Given the description of an element on the screen output the (x, y) to click on. 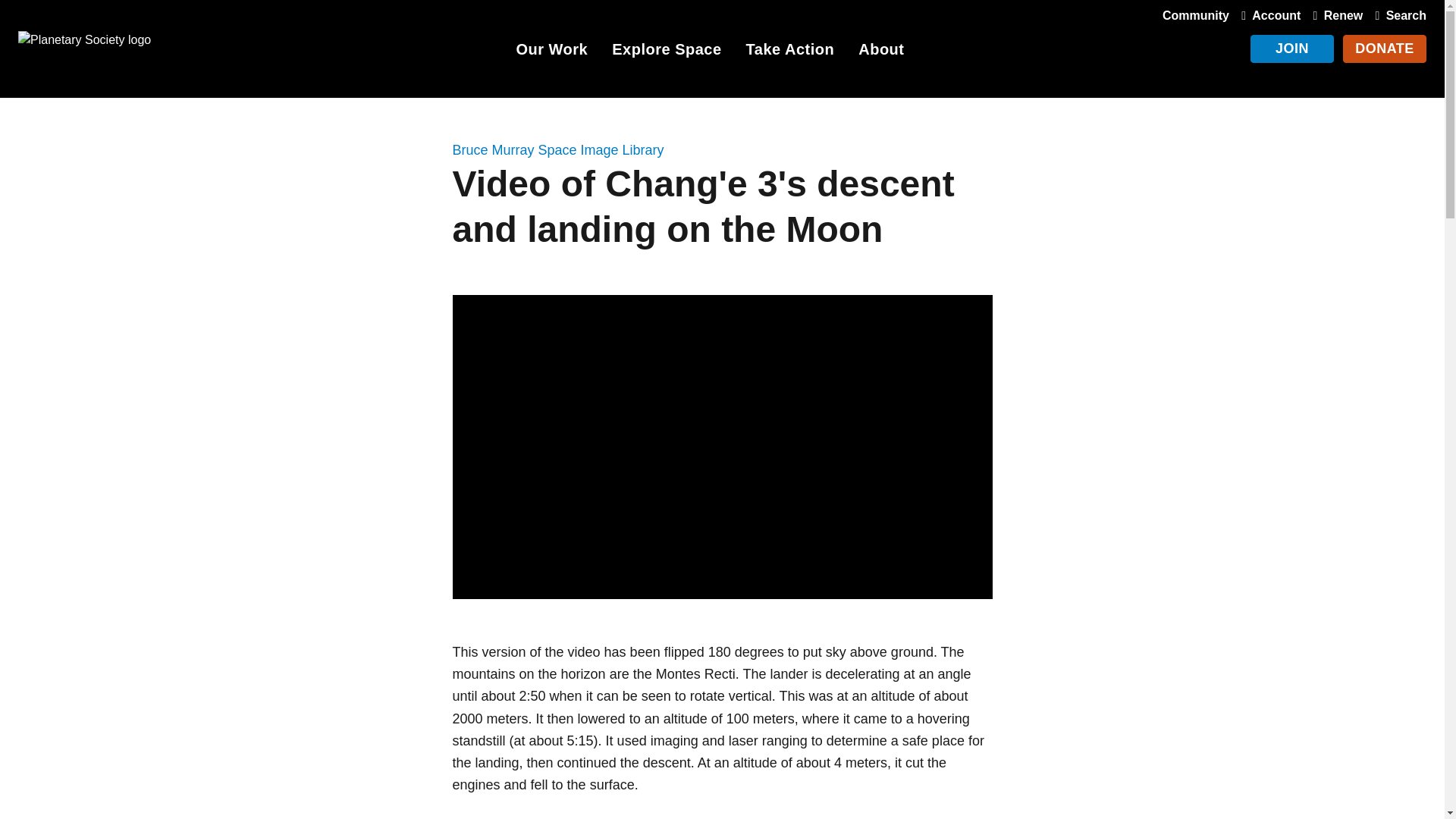
Our Work (551, 51)
Account (1267, 15)
Explore Space (665, 51)
Search (1397, 15)
About (881, 51)
Community (1194, 15)
Take Action (789, 51)
JOIN (1291, 49)
DONATE (1384, 49)
Renew (1334, 15)
